Given the description of an element on the screen output the (x, y) to click on. 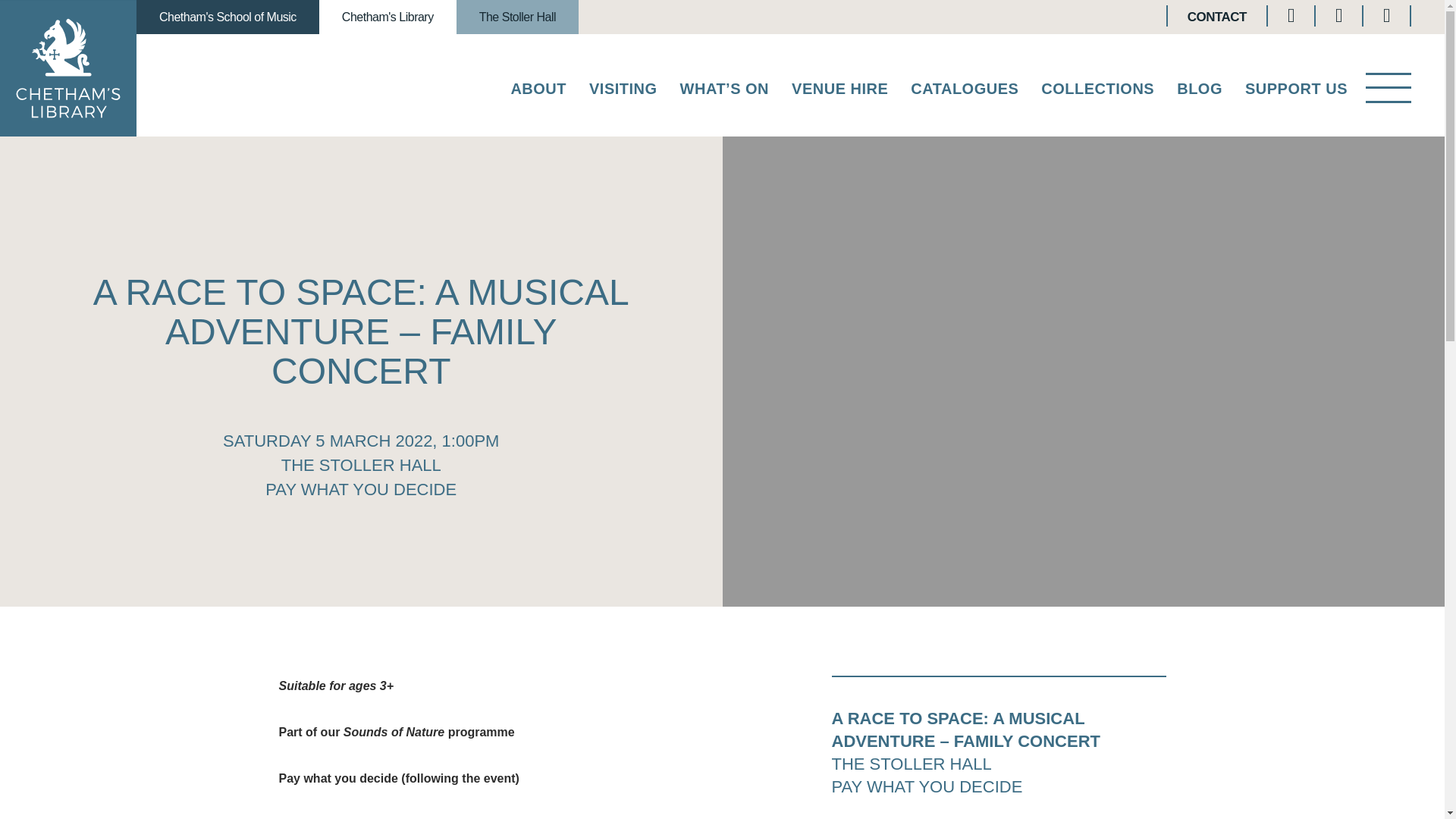
VISITING (623, 91)
CHETHAM'S LIBRARY (68, 68)
Chetham's School of Music (227, 16)
CATALOGUES (964, 91)
CONTACT (1217, 16)
VENUE HIRE (840, 91)
Chetham's Library (387, 16)
The Stoller Hall (517, 16)
ABOUT (538, 91)
